Given the description of an element on the screen output the (x, y) to click on. 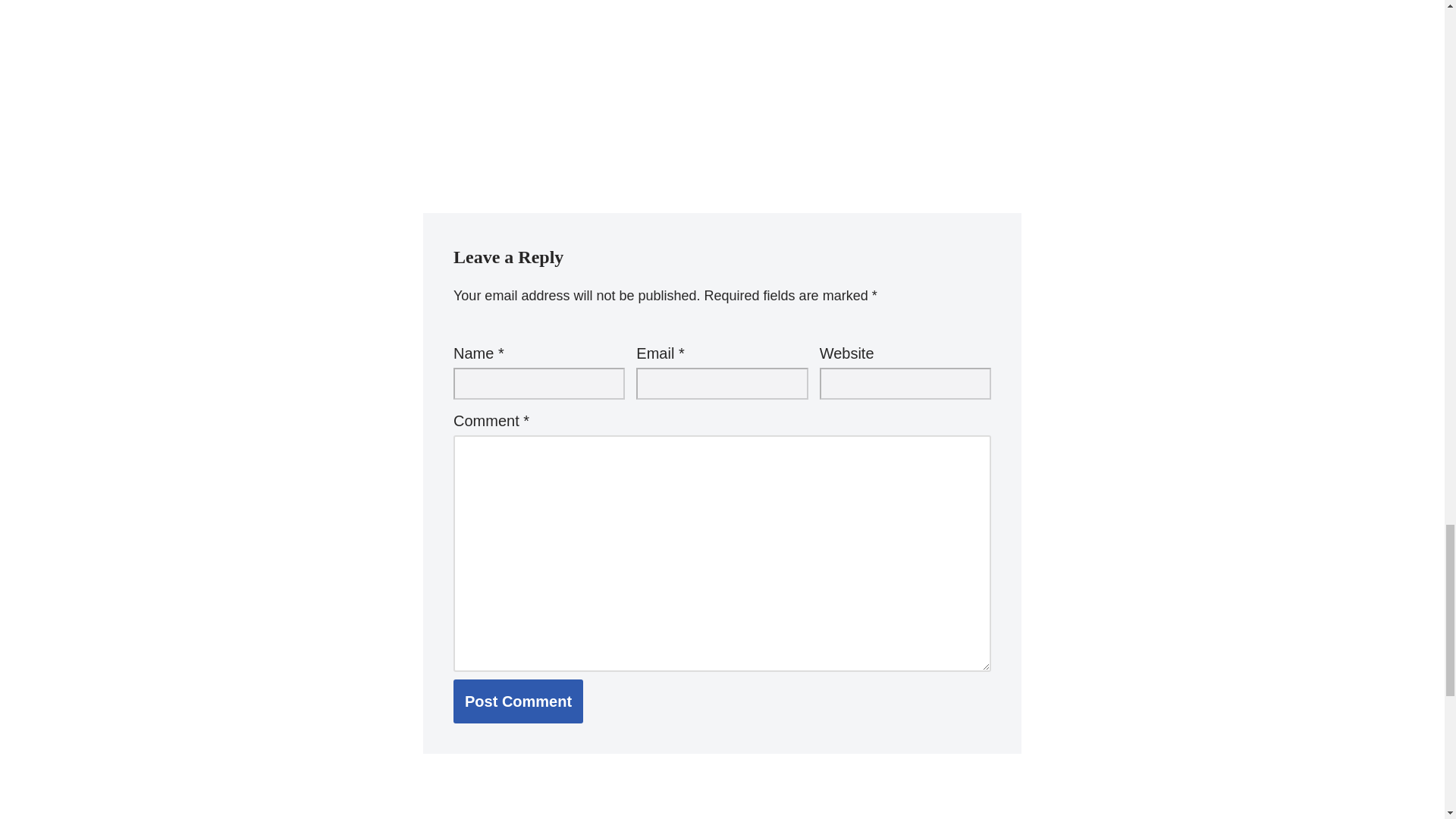
Post Comment (517, 701)
Post Comment (517, 701)
